Given the description of an element on the screen output the (x, y) to click on. 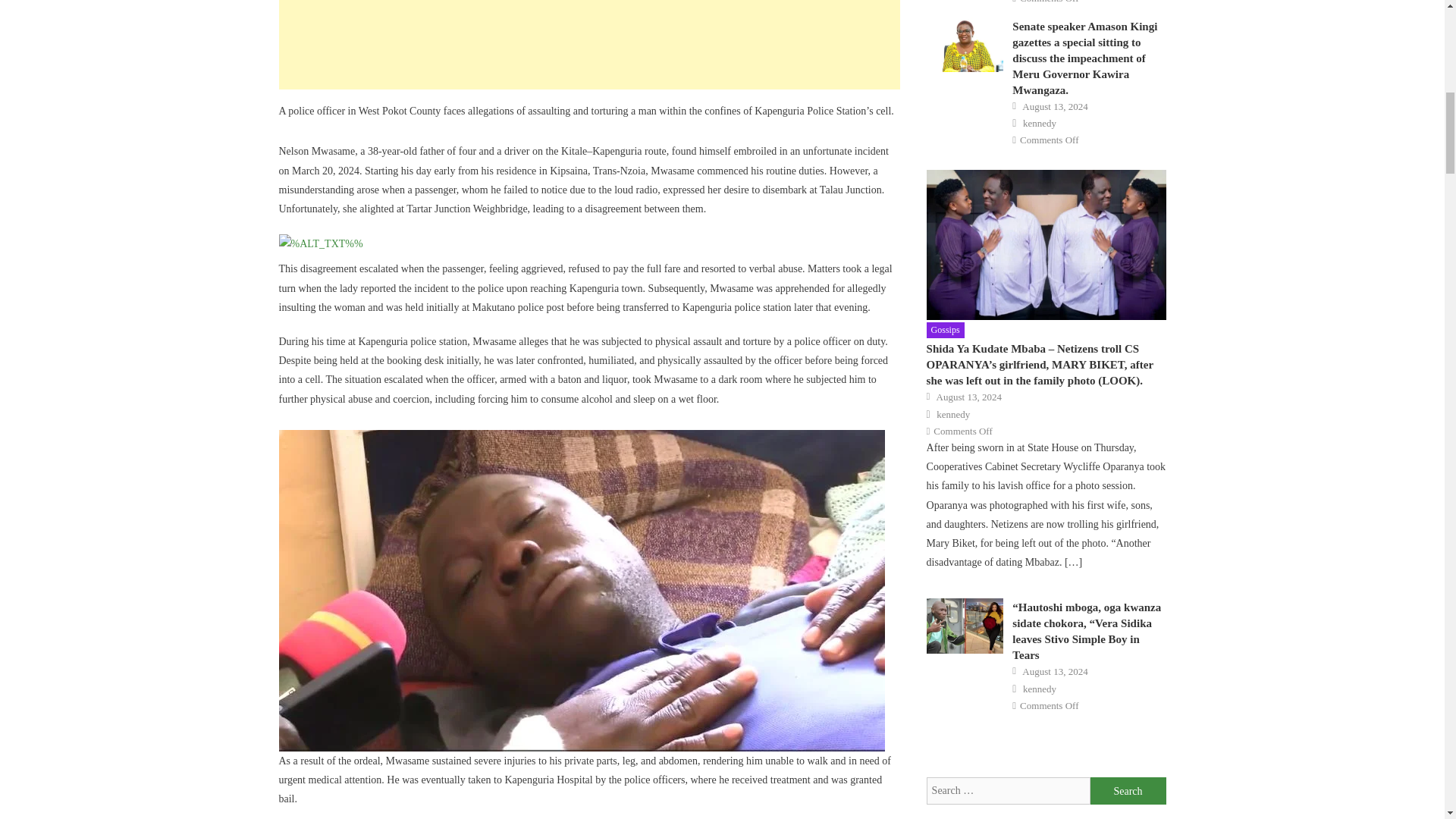
Search (1128, 790)
Search (1128, 790)
Advertisement (589, 44)
